Given the description of an element on the screen output the (x, y) to click on. 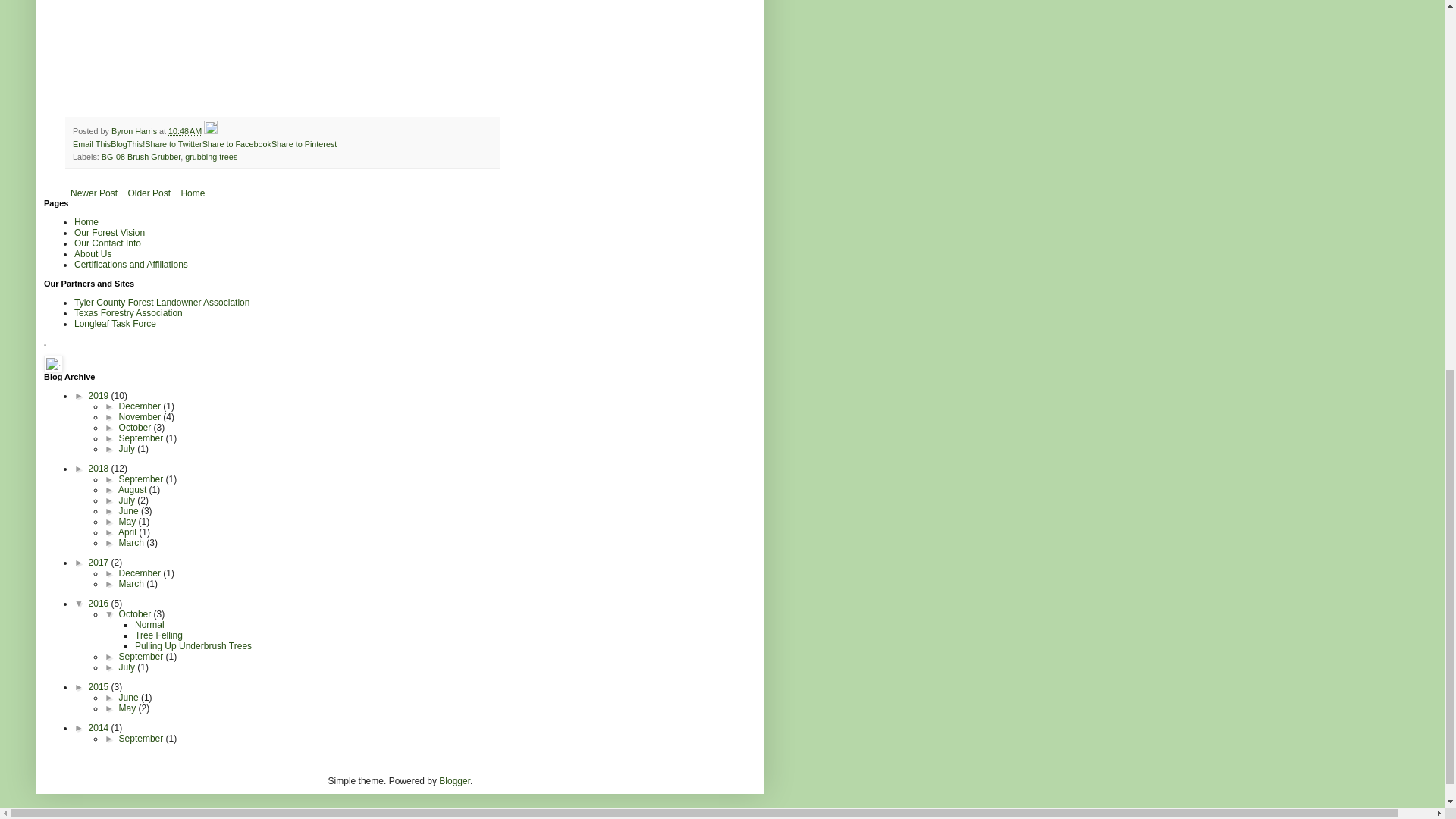
permanent link (185, 130)
Byron Harris (135, 130)
Share to Pinterest (303, 143)
Texas Forestry Association (128, 312)
Newer Post (93, 193)
Share to Twitter (173, 143)
Email This (91, 143)
Share to Facebook (236, 143)
BlogThis! (127, 143)
